Given the description of an element on the screen output the (x, y) to click on. 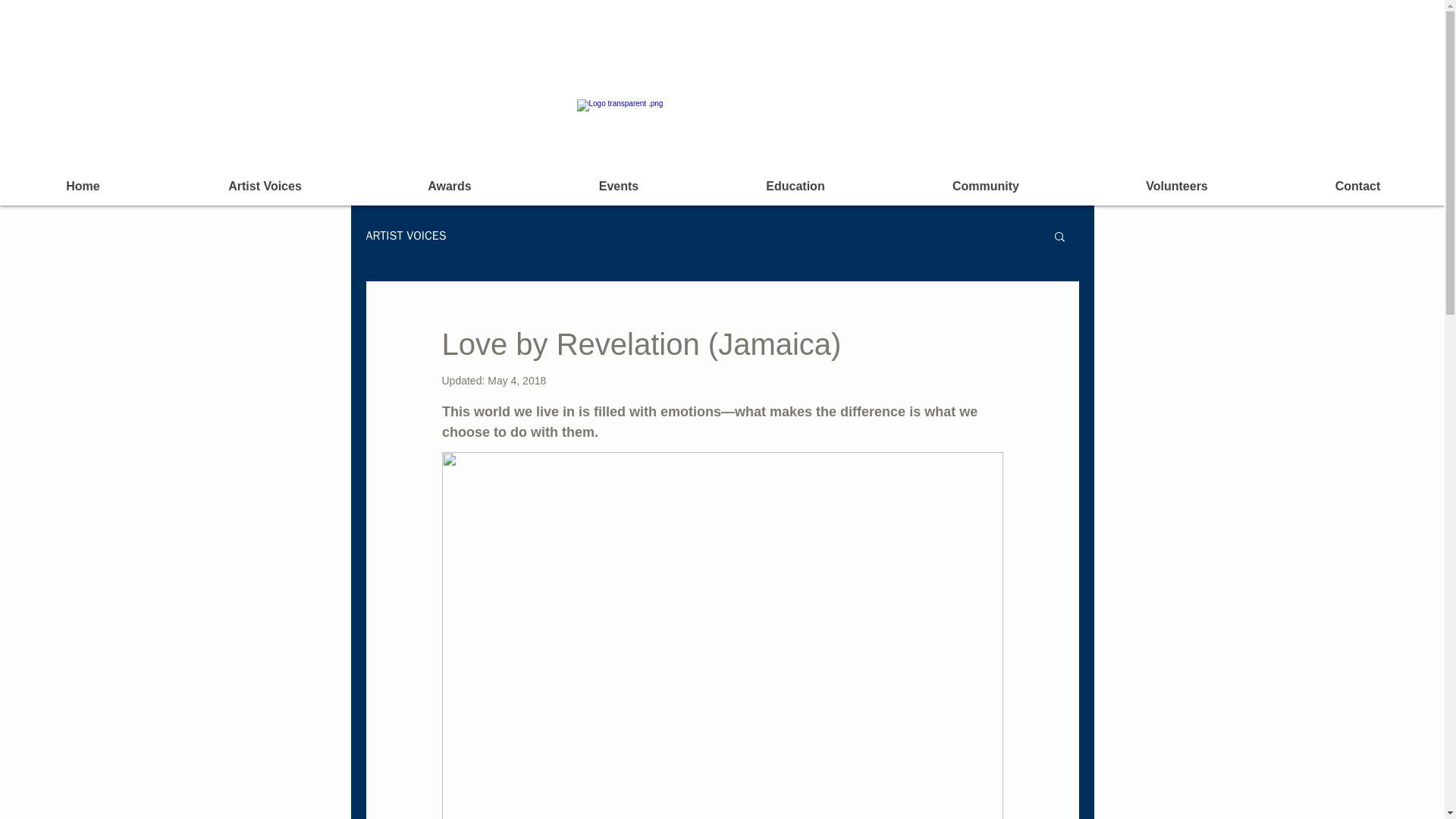
ARTIST VOICES (405, 235)
Community (985, 186)
Events (618, 186)
Awards (449, 186)
Education (794, 186)
Volunteers (1177, 186)
Home (82, 186)
May 4, 2018 (516, 380)
Artist Voices (264, 186)
